Given the description of an element on the screen output the (x, y) to click on. 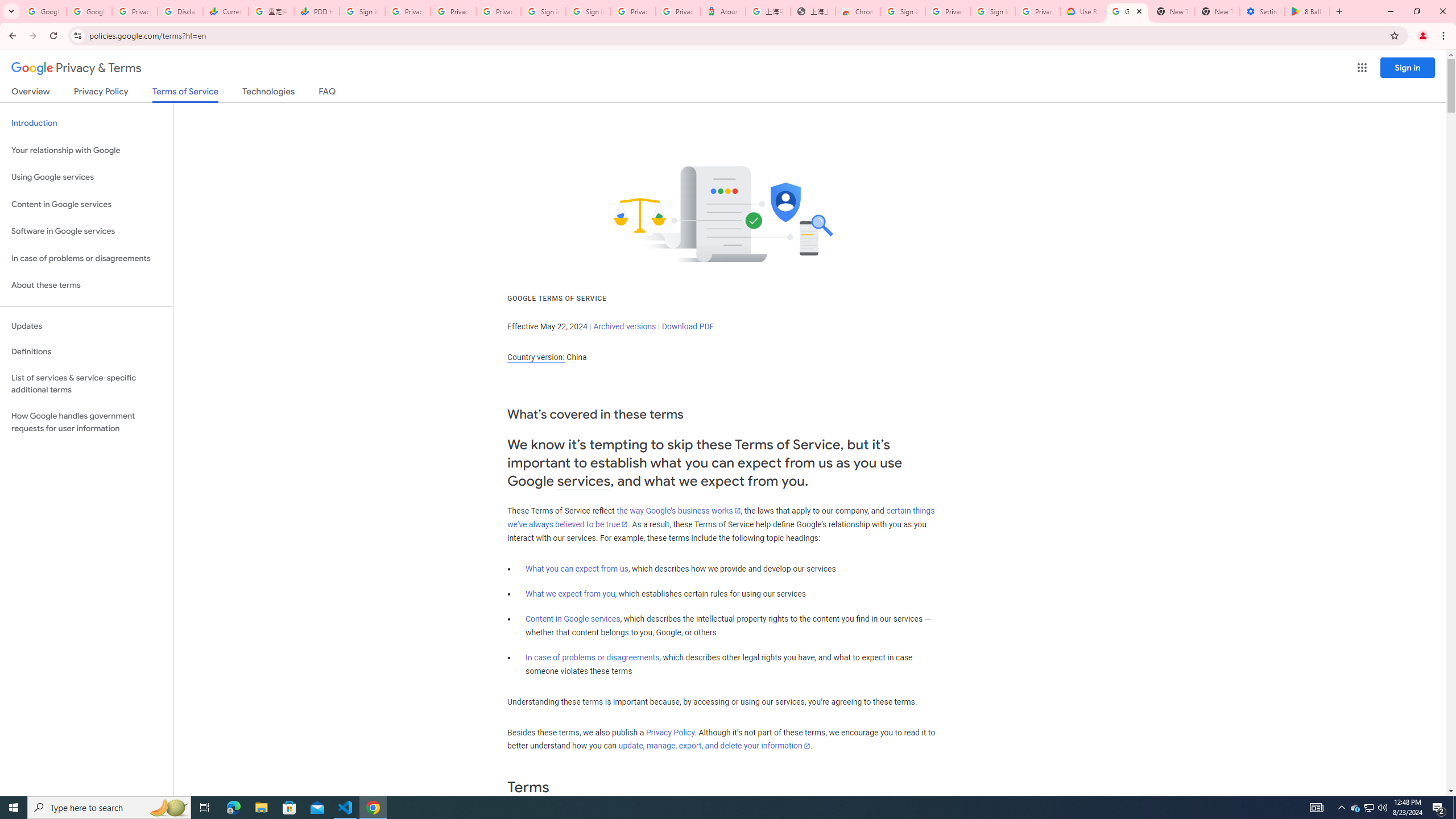
Your relationship with Google (86, 150)
Overview (30, 93)
Privacy Checkup (452, 11)
Country version: (535, 357)
services (583, 480)
Definitions (86, 352)
Technologies (268, 93)
Terms of Service (184, 94)
What you can expect from us (576, 568)
Software in Google services (86, 230)
